Given the description of an element on the screen output the (x, y) to click on. 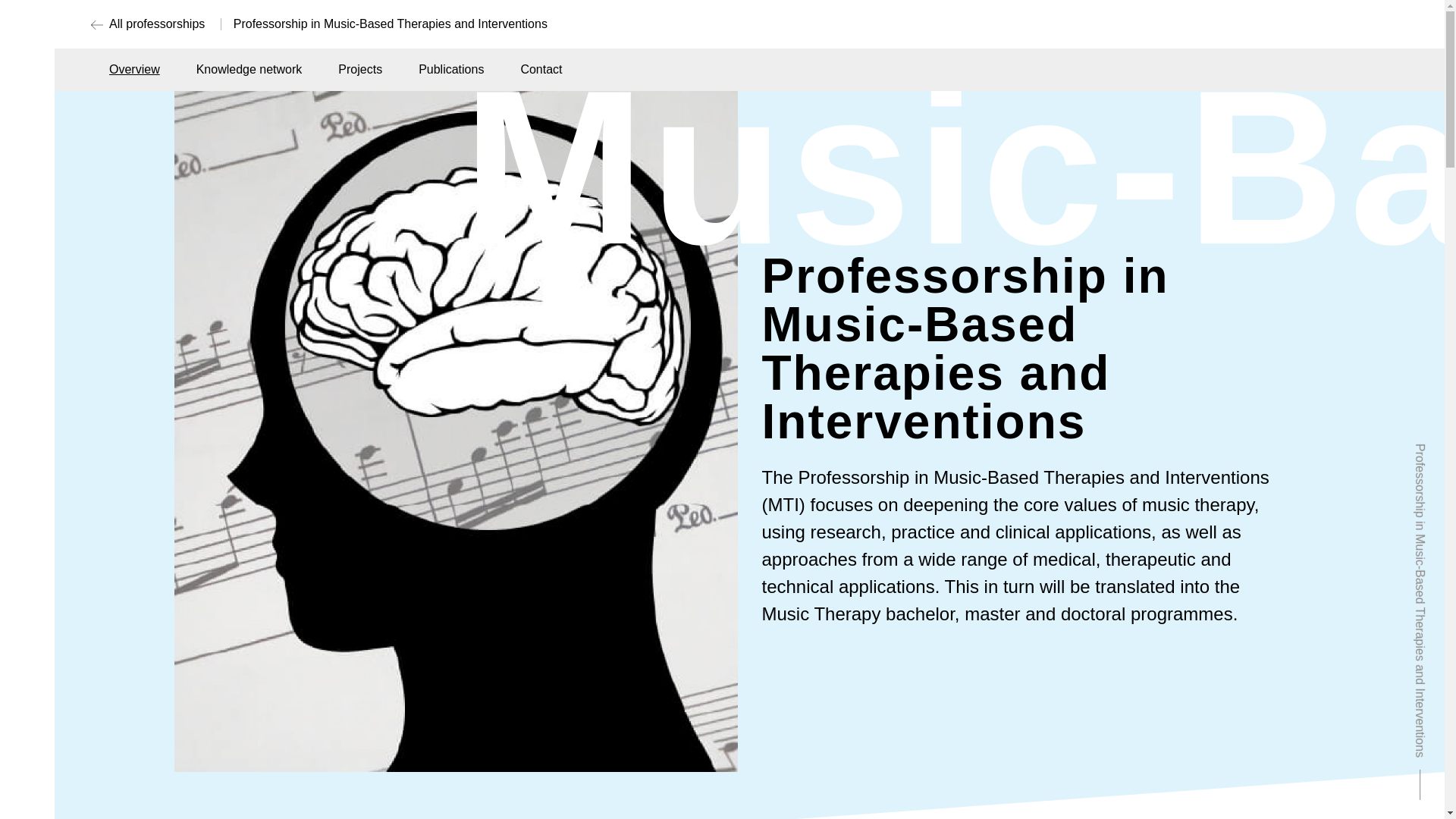
Go to the main content (156, 20)
All professorships (147, 24)
Publications (451, 69)
Knowledge network (249, 69)
Arrow right icon (238, 20)
Overview (134, 69)
Projects (359, 69)
Contact (540, 69)
